Given the description of an element on the screen output the (x, y) to click on. 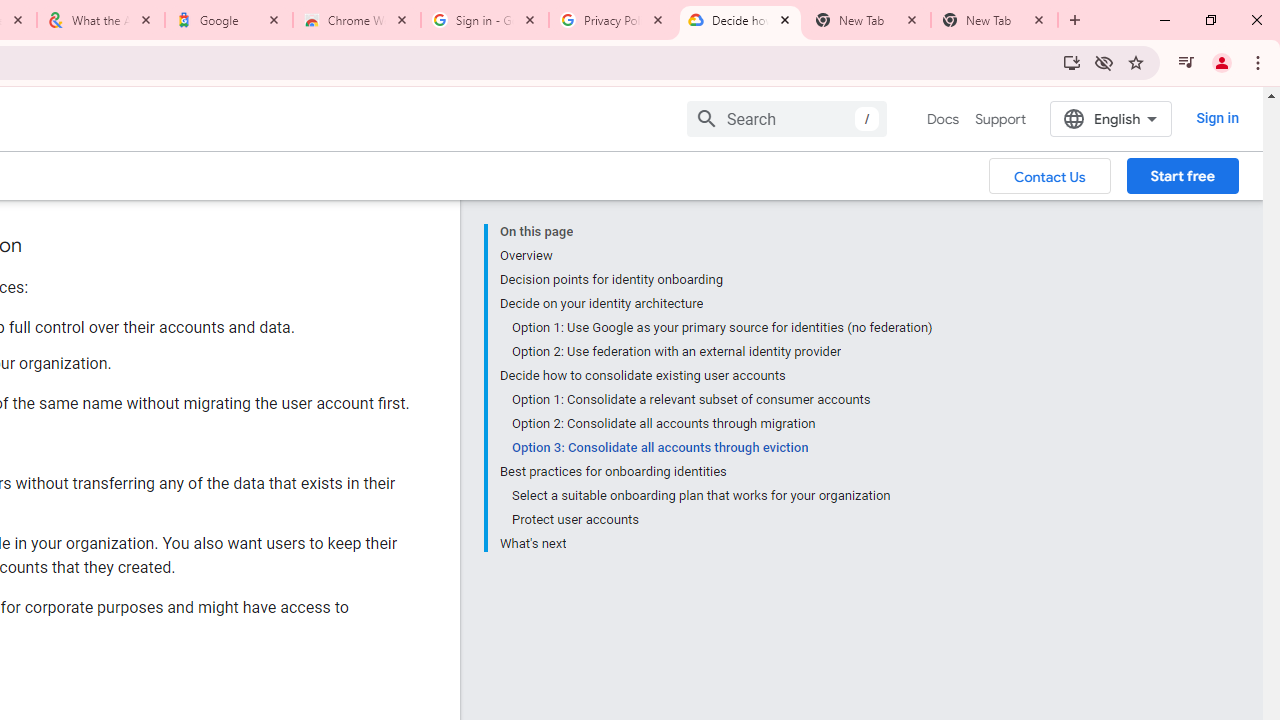
Decide on your identity architecture (716, 304)
Install Google Cloud (1071, 62)
Sign in - Google Accounts (485, 20)
New Tab (994, 20)
English (1110, 118)
What's next (716, 542)
